Given the description of an element on the screen output the (x, y) to click on. 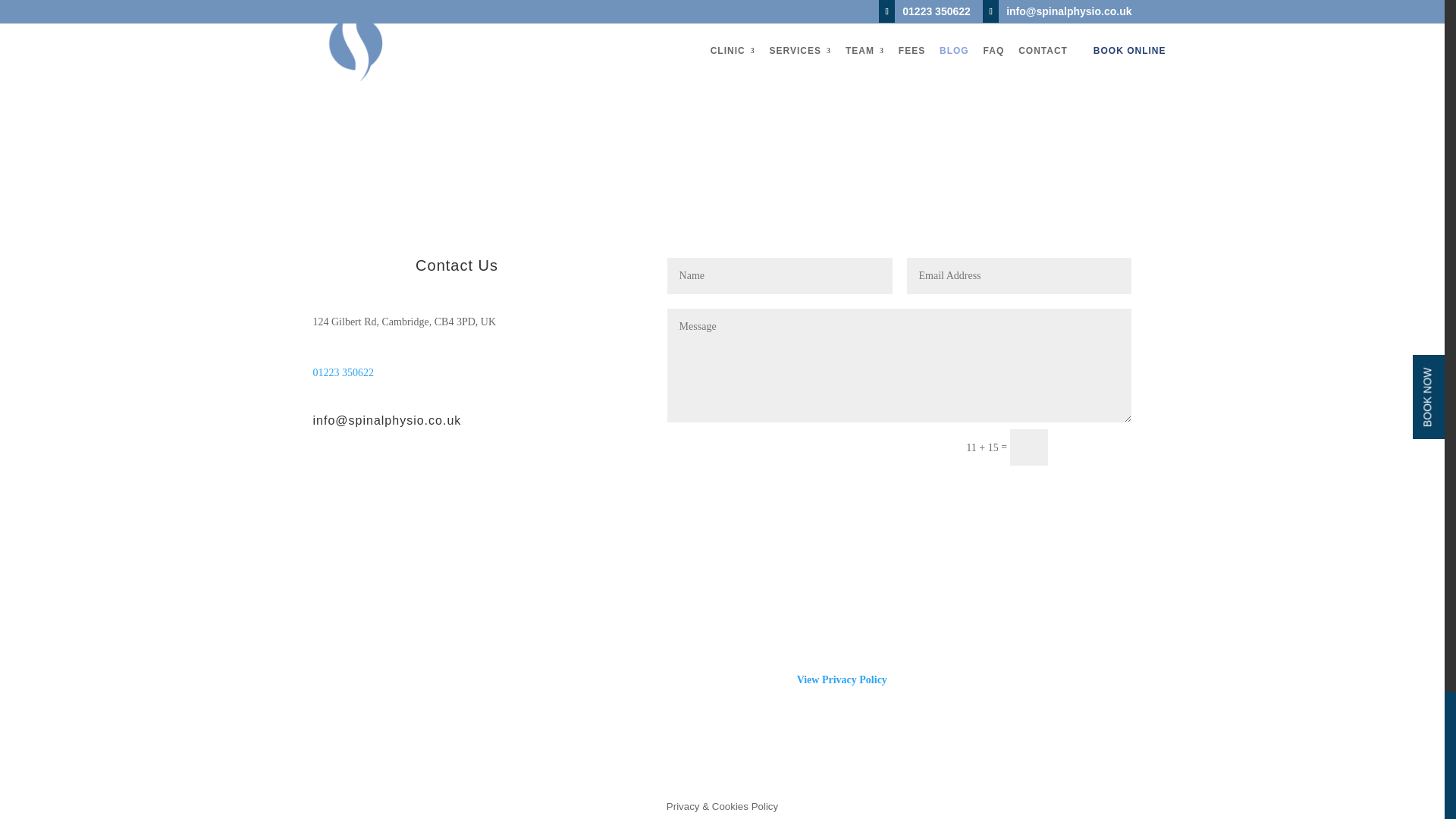
Follow on Facebook (324, 478)
Follow on X (354, 478)
Follow on LinkedIn (384, 478)
